Given the description of an element on the screen output the (x, y) to click on. 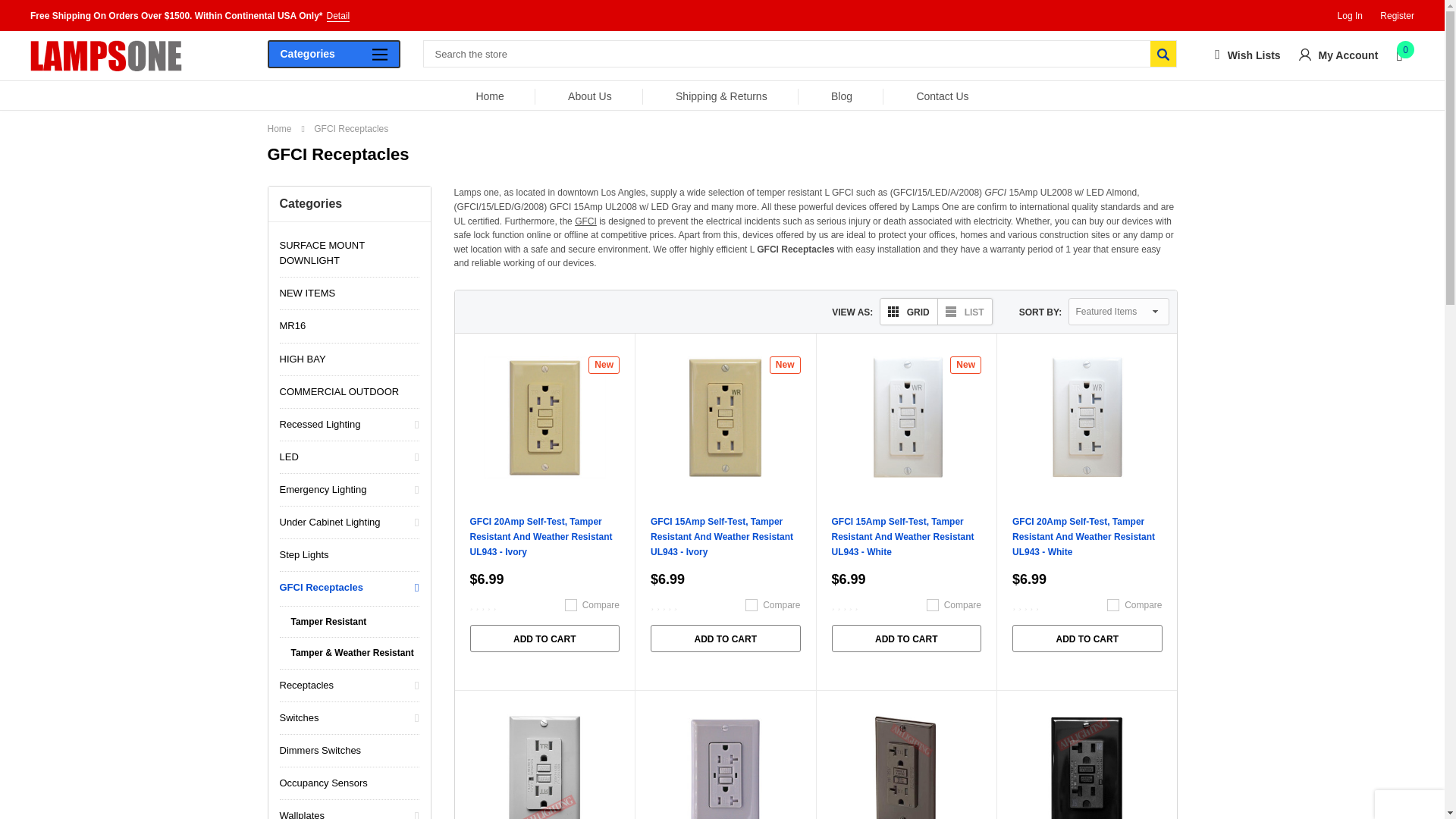
Shipping and Returns (721, 96)
Blog (841, 96)
Lampsone  (106, 55)
Detail (189, 15)
Contact Us (941, 96)
About Us (589, 96)
Home (489, 96)
